Given the description of an element on the screen output the (x, y) to click on. 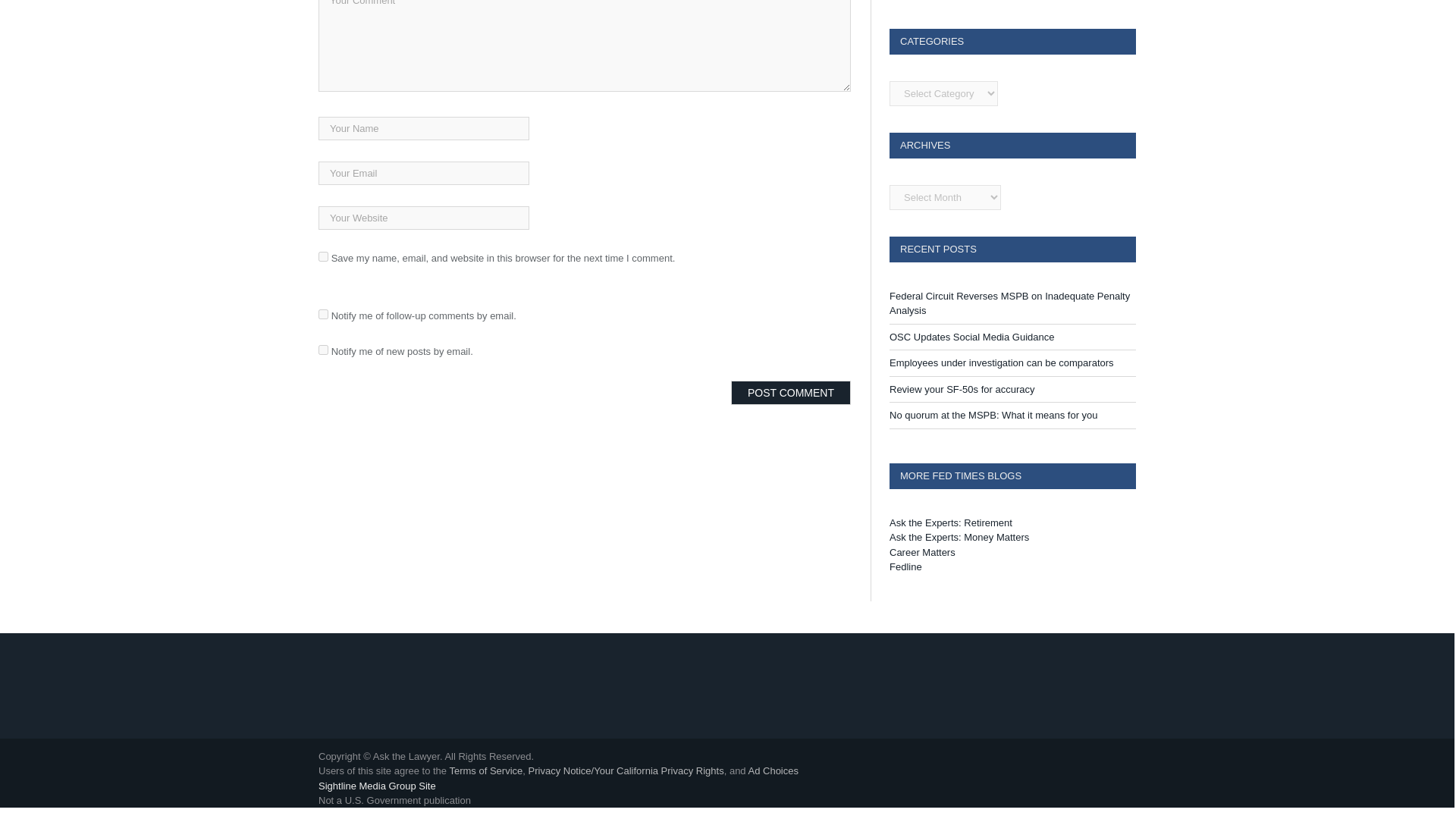
yes (323, 256)
Post Comment (790, 392)
subscribe (323, 349)
subscribe (323, 314)
